Given the description of an element on the screen output the (x, y) to click on. 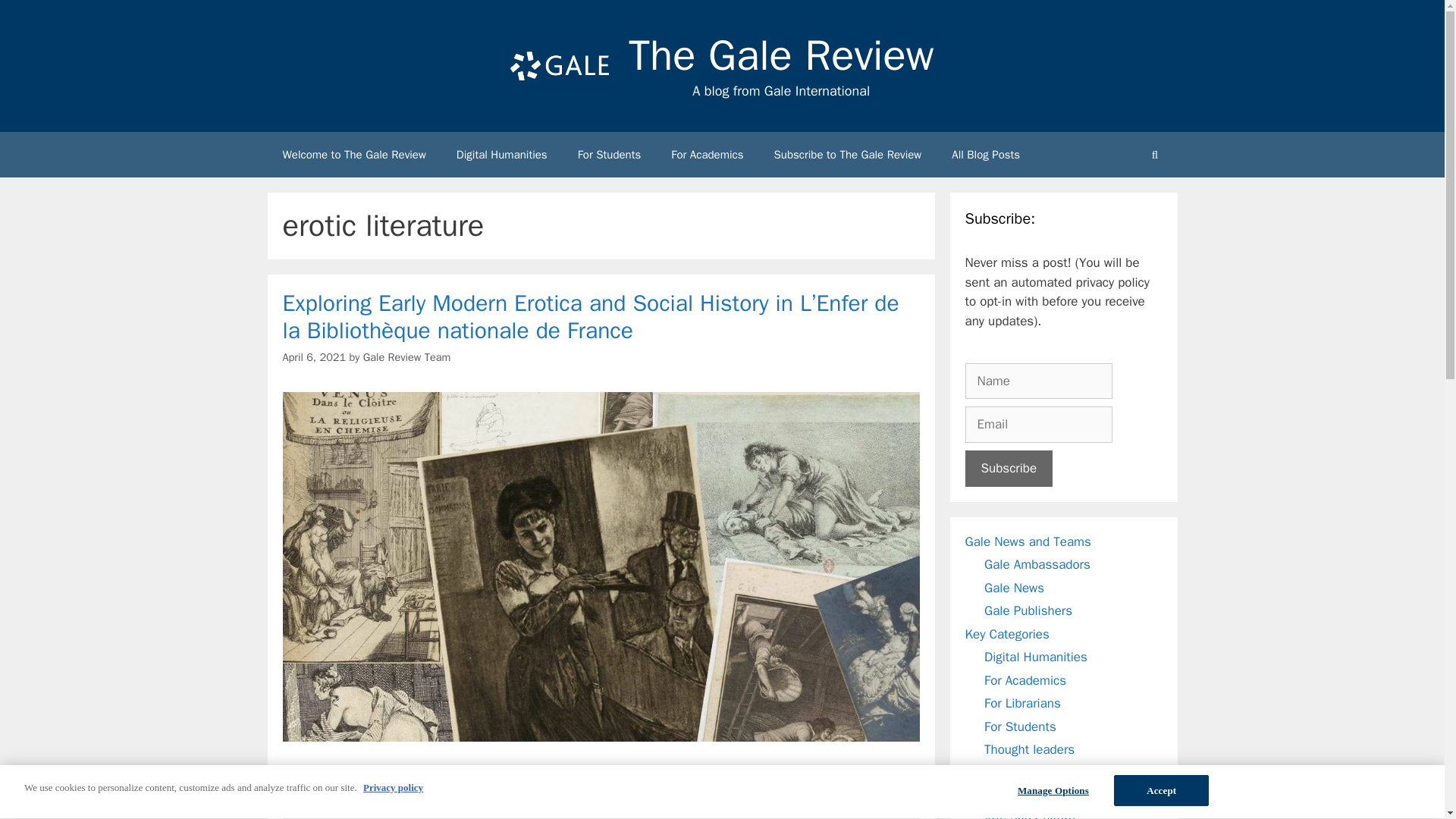
For Academics (707, 154)
All Blog Posts (985, 154)
View all posts by Gale Review Team (406, 356)
Digital Humanities (501, 154)
Subscribe (1007, 468)
Welcome to The Gale Review (353, 154)
Gale Review Team (406, 356)
Subscribe to The Gale Review (847, 154)
The Gale Review (781, 55)
For Students (609, 154)
